Given the description of an element on the screen output the (x, y) to click on. 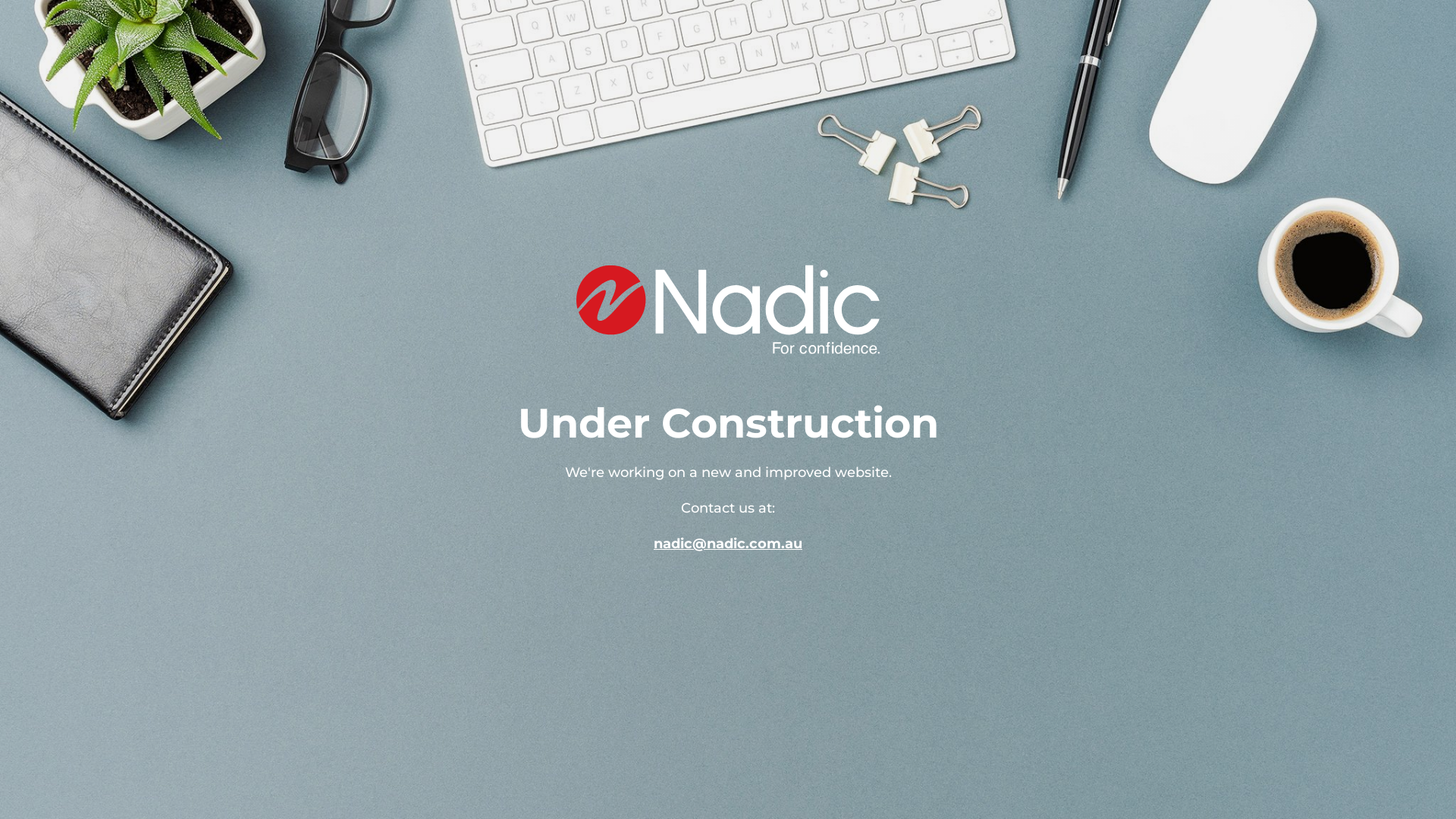
nadic@nadic.com.au Element type: text (727, 543)
